Given the description of an element on the screen output the (x, y) to click on. 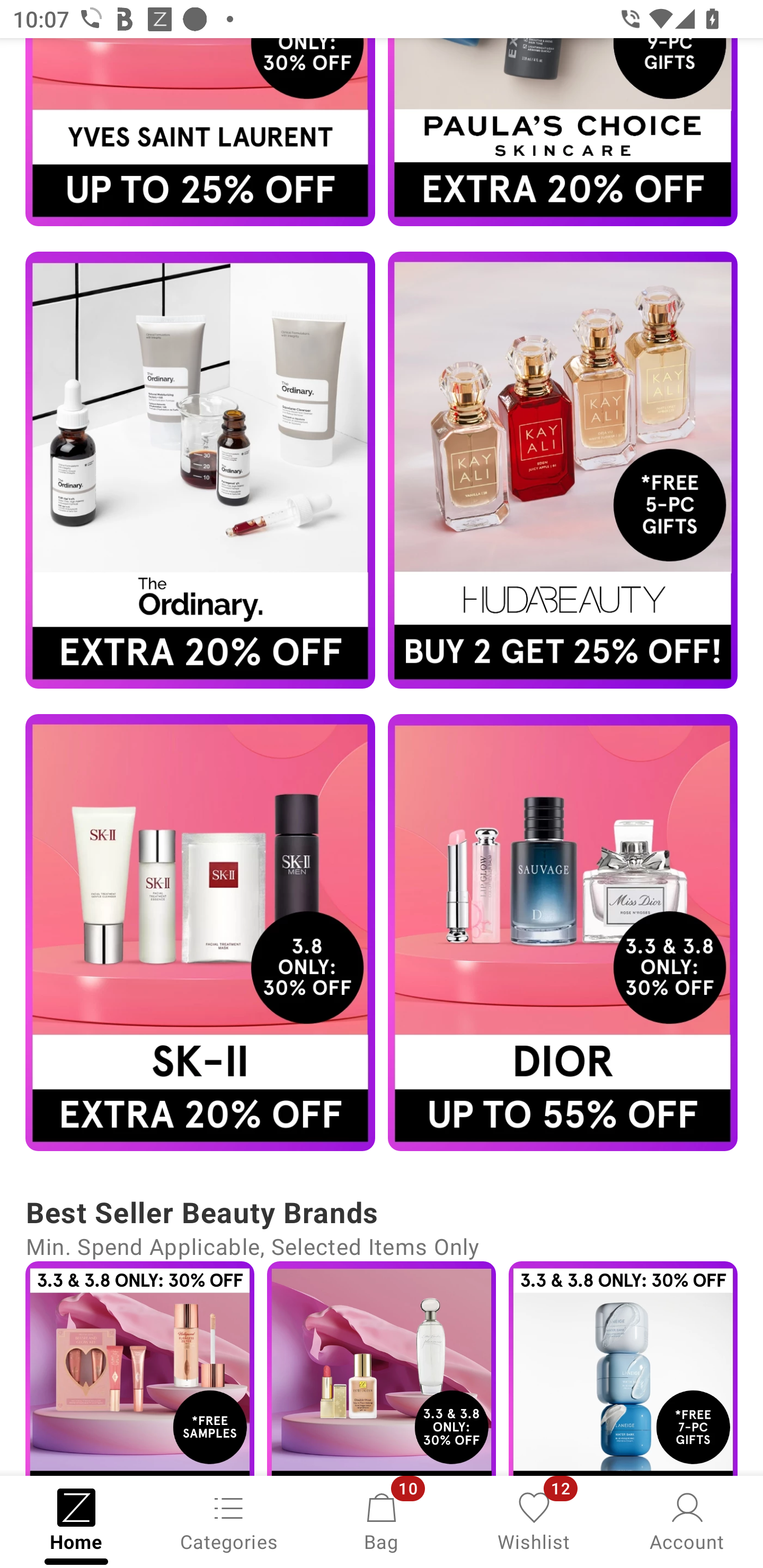
Campaign banner (200, 131)
Campaign banner (562, 131)
Campaign banner (200, 469)
Campaign banner (562, 469)
Campaign banner (200, 931)
Campaign banner (562, 931)
Campaign banner (139, 1367)
Campaign banner (381, 1367)
Campaign banner (622, 1367)
Categories (228, 1519)
Bag, 10 new notifications Bag (381, 1519)
Wishlist, 12 new notifications Wishlist (533, 1519)
Account (686, 1519)
